Given the description of an element on the screen output the (x, y) to click on. 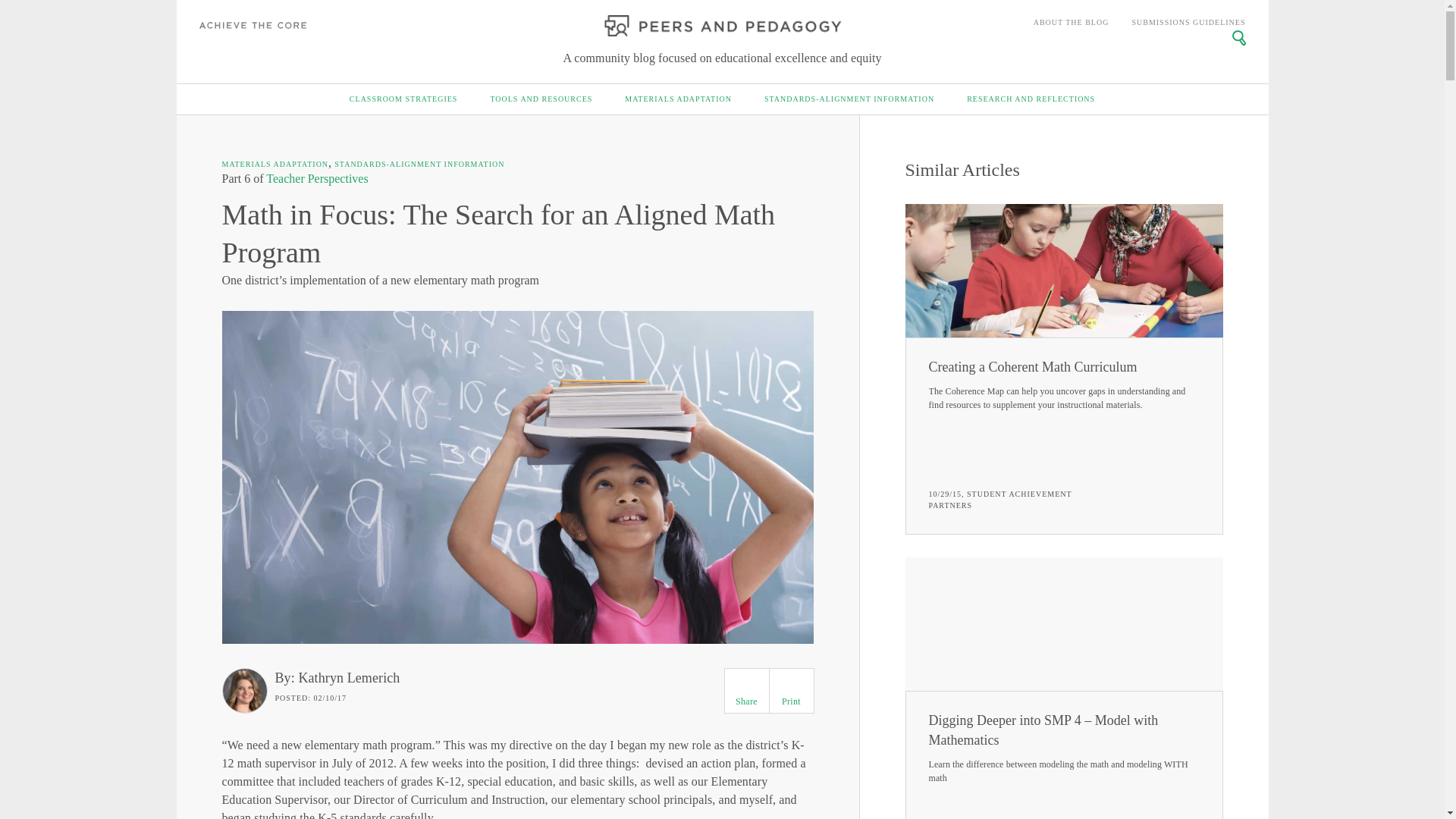
TOOLS AND RESOURCES (540, 99)
ABOUT THE BLOG (1071, 22)
SUBMISSIONS GUIDELINES (1187, 22)
MATERIALS ADAPTATION (678, 99)
Achieve The Core (255, 25)
S (1237, 37)
Search (1241, 36)
CLASSROOM STRATEGIES (403, 99)
STANDARDS-ALIGNMENT INFORMATION (849, 99)
Print (791, 682)
